Given the description of an element on the screen output the (x, y) to click on. 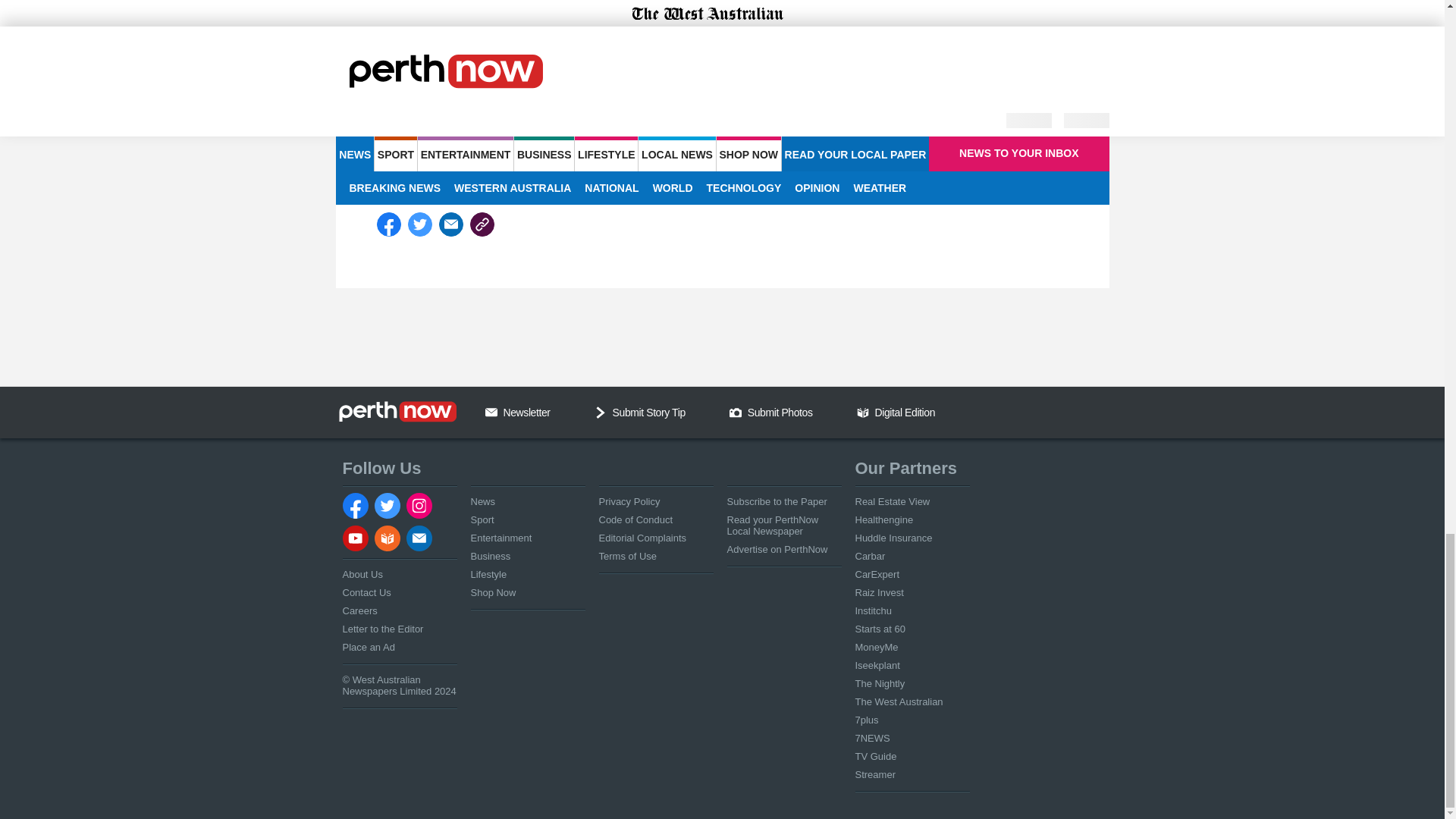
Camera Icon (735, 412)
Get Digital Edition (863, 412)
Chevron Down Icon (600, 412)
Email Us (490, 412)
